Given the description of an element on the screen output the (x, y) to click on. 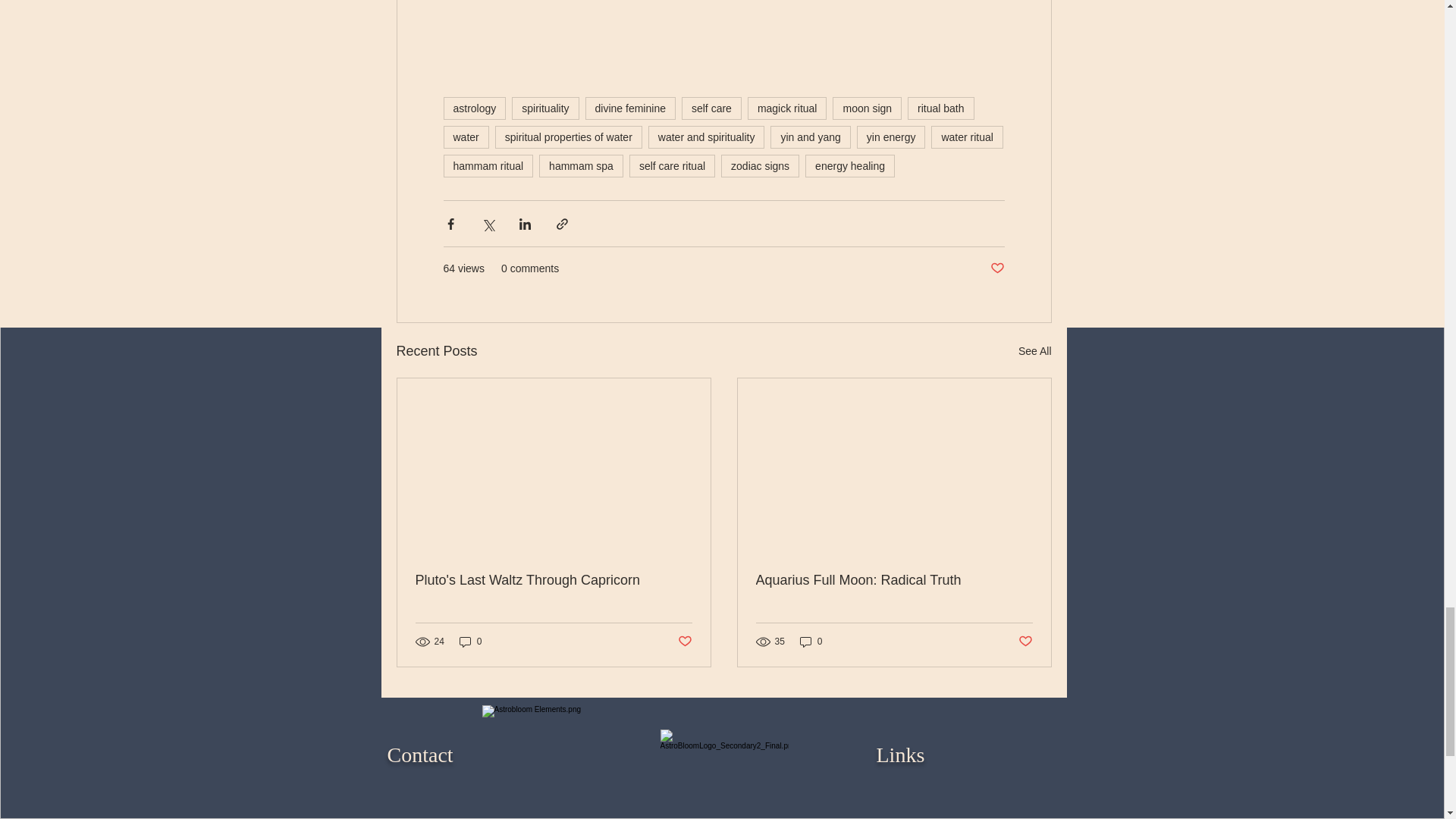
ritual bath (940, 108)
water and spirituality (706, 137)
astrology (473, 108)
magick ritual (787, 108)
yin and yang (810, 137)
spiritual properties of water (568, 137)
water (464, 137)
moon sign (866, 108)
divine feminine (630, 108)
self care (711, 108)
